Given the description of an element on the screen output the (x, y) to click on. 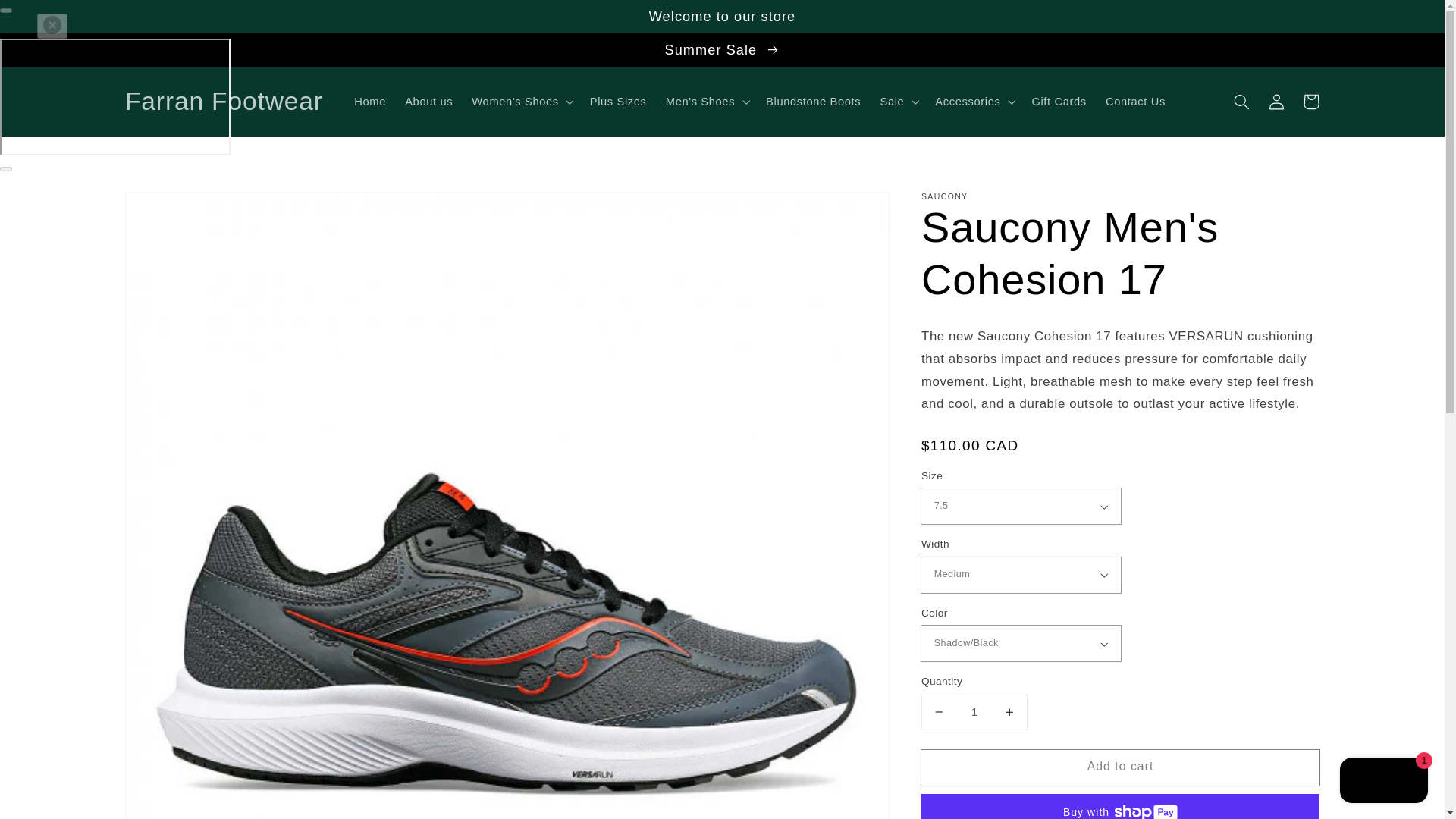
1 (974, 712)
Skip to content (47, 17)
Shopify online store chat (1383, 781)
